Given the description of an element on the screen output the (x, y) to click on. 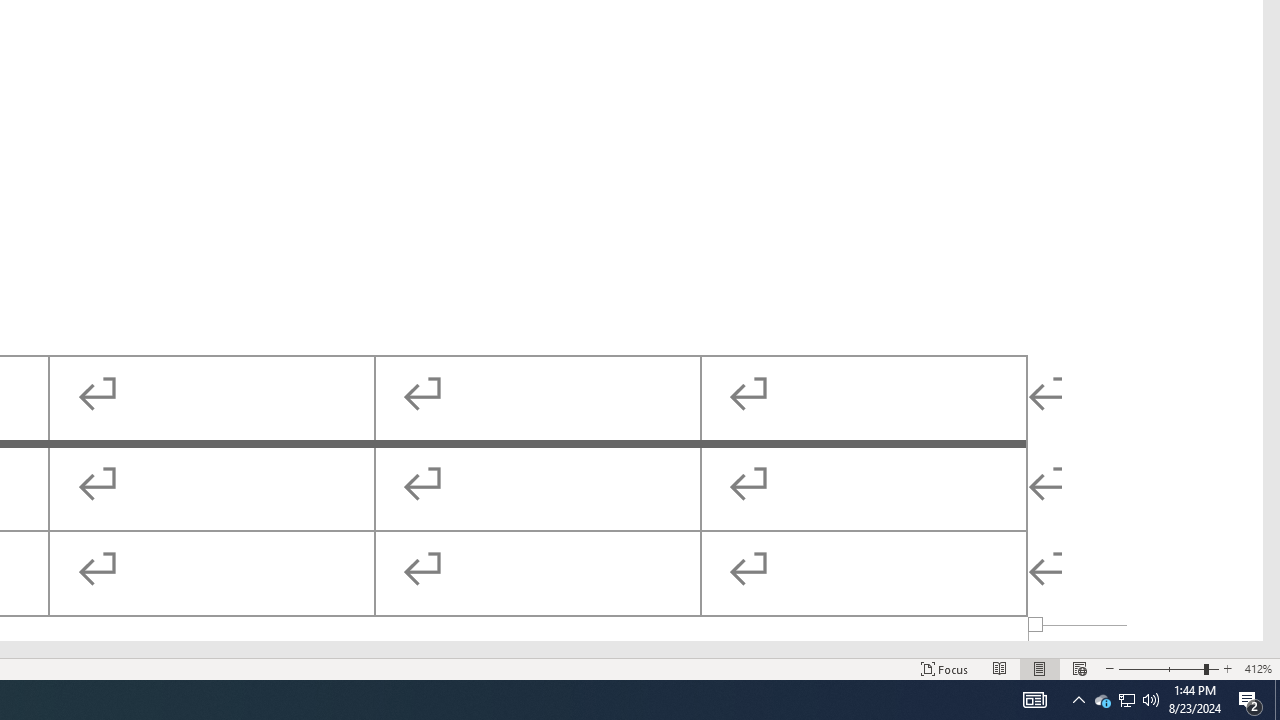
Zoom 412% (1258, 668)
